Given the description of an element on the screen output the (x, y) to click on. 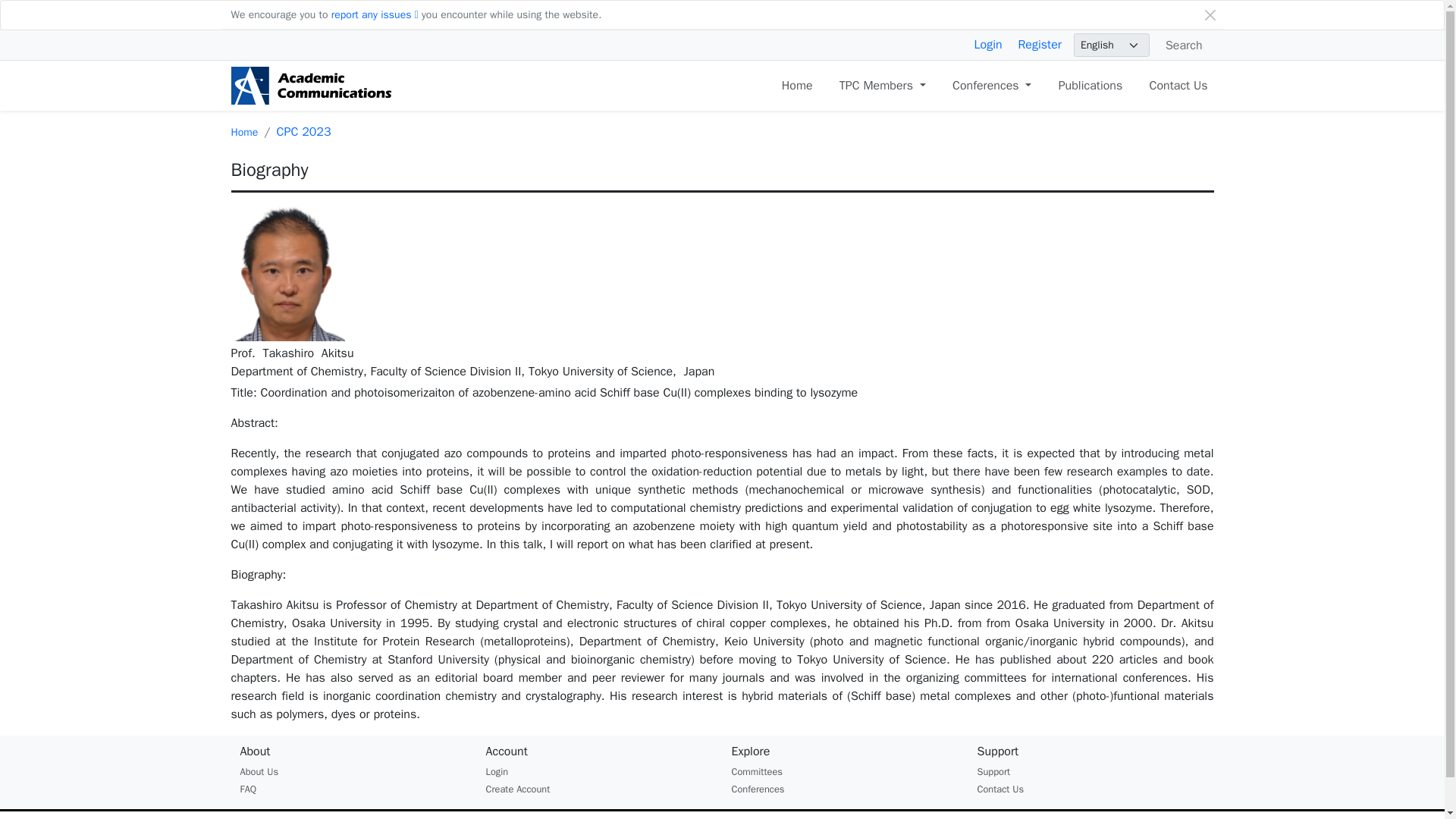
Register (1039, 44)
Search (1181, 44)
Home (797, 85)
TPC Members (881, 85)
Contact Us (1177, 85)
About Us (259, 771)
Contact Us (1177, 85)
report any issues (375, 14)
Conferences (757, 788)
Conferences (991, 85)
Publications (1090, 85)
FAQ (248, 788)
Publications (1090, 85)
Home (243, 132)
Login (988, 44)
